Given the description of an element on the screen output the (x, y) to click on. 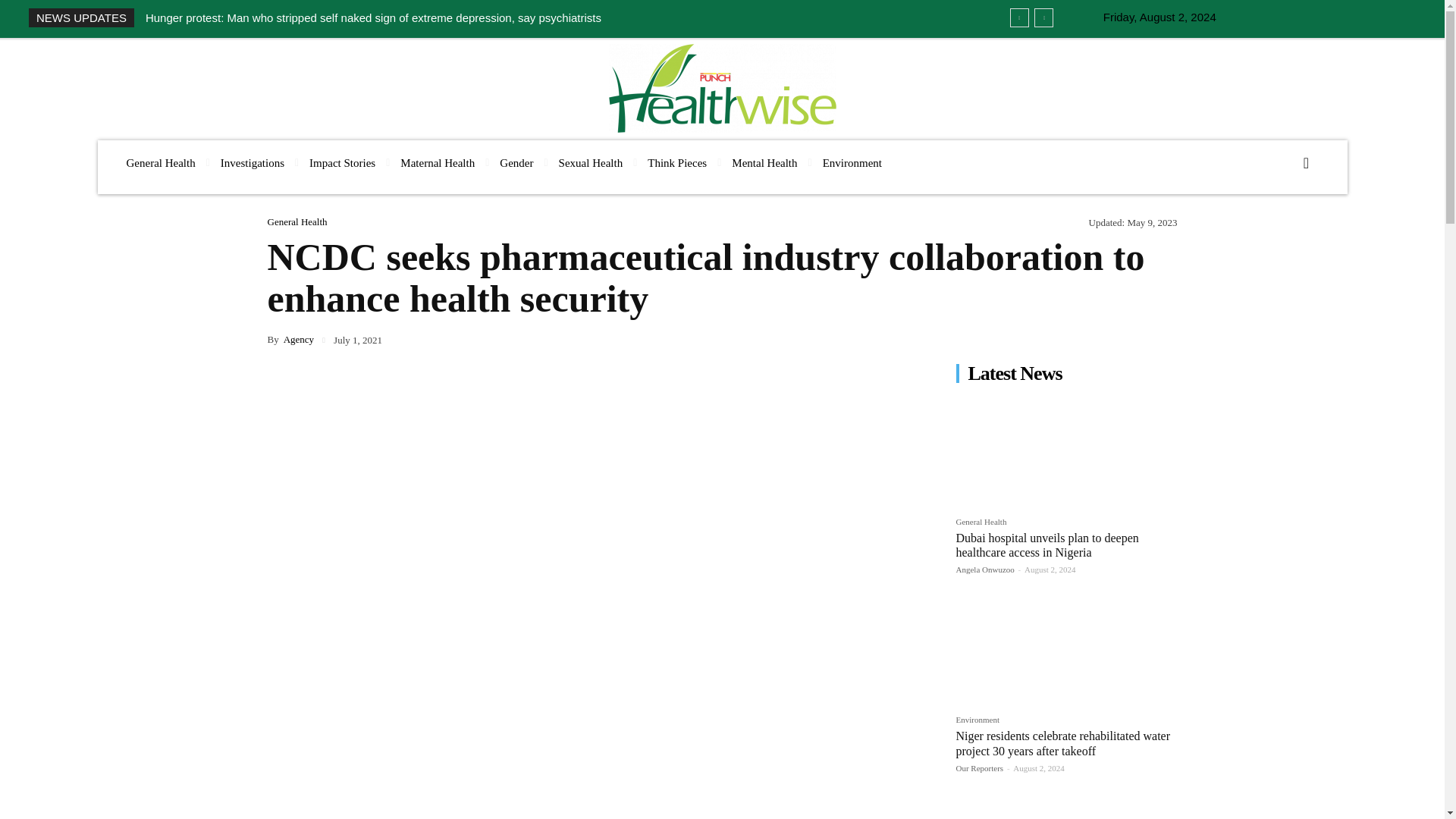
Investigations (252, 163)
General Health (160, 163)
